Given the description of an element on the screen output the (x, y) to click on. 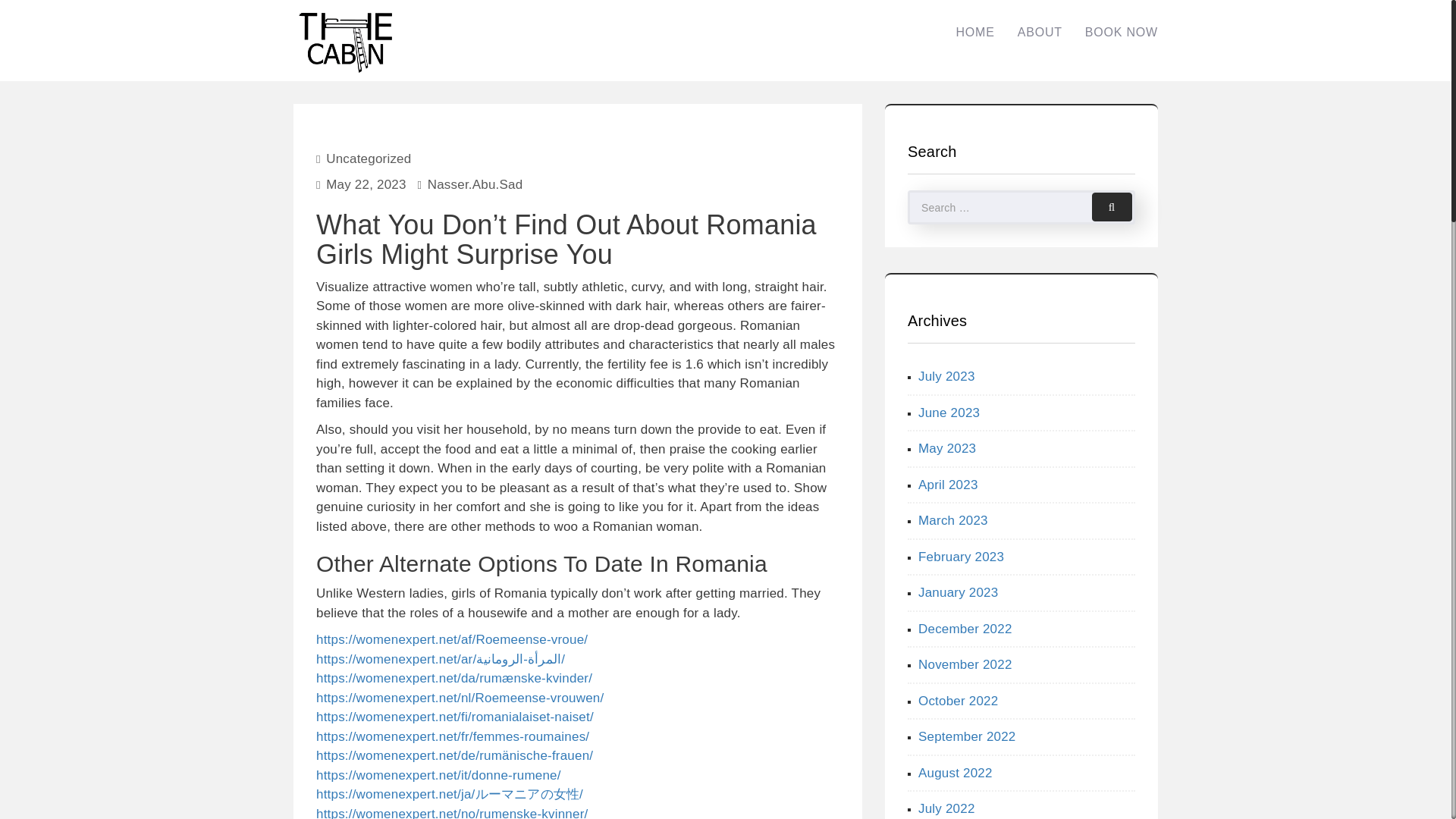
Uncategorized (368, 158)
July 2023 (946, 376)
October 2022 (957, 699)
March 2023 (953, 520)
View all posts by nasser.abu.sad (475, 184)
January 2023 (957, 592)
August 2022 (955, 772)
ABOUT (1040, 32)
Nasser.Abu.Sad (475, 184)
December 2022 (964, 628)
May 22, 2023 (366, 184)
BOOK NOW (1121, 32)
May 2023 (946, 448)
February 2023 (961, 555)
April 2023 (948, 484)
